Given the description of an element on the screen output the (x, y) to click on. 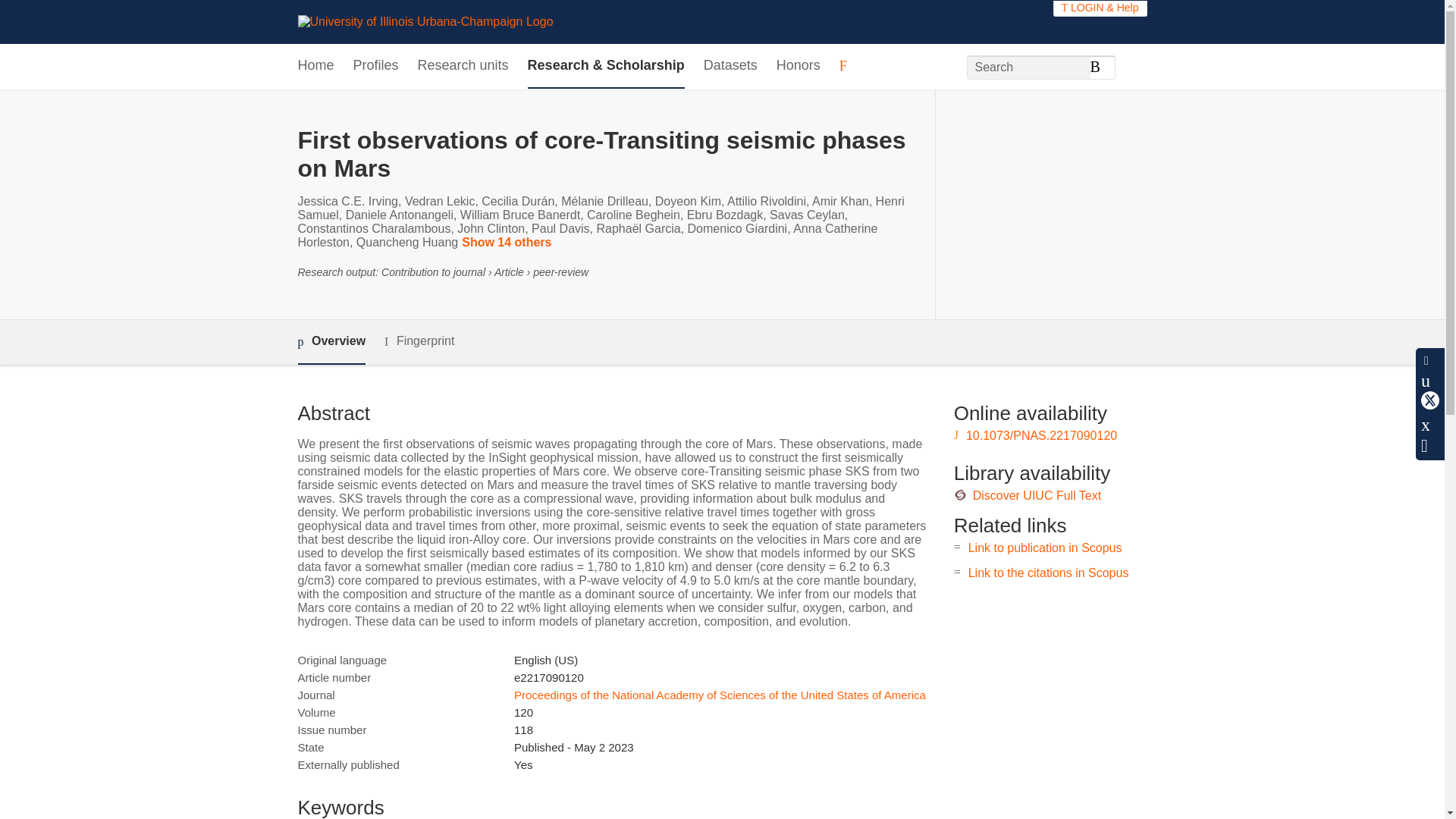
Research units (462, 66)
Link to the citations in Scopus (1048, 572)
University of Illinois Urbana-Champaign Home (425, 21)
Overview (331, 342)
Profiles (375, 66)
Discover UIUC Full Text (1037, 495)
Honors (798, 66)
Fingerprint (419, 341)
